Given the description of an element on the screen output the (x, y) to click on. 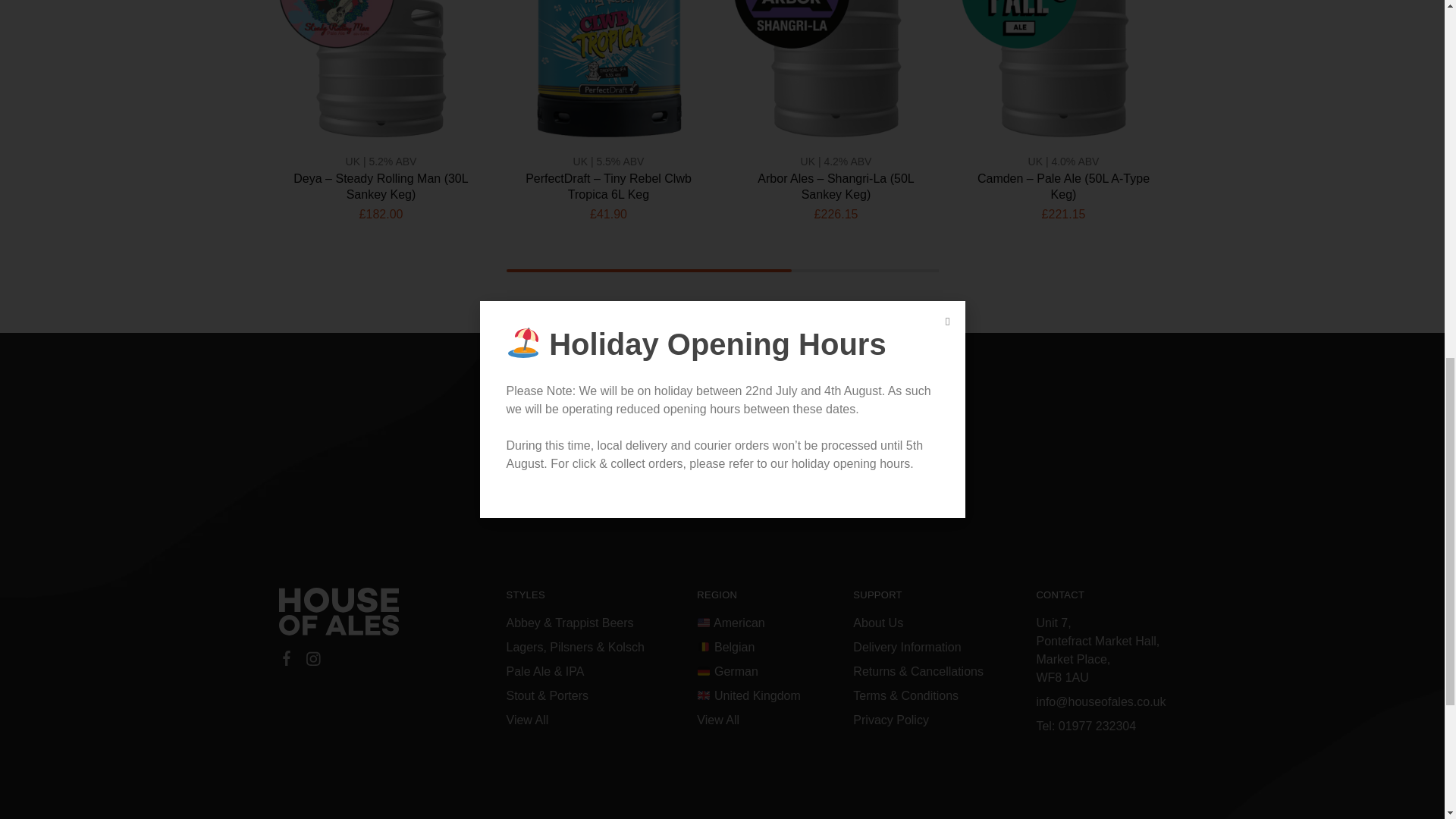
Facebook (286, 660)
Sign up (890, 484)
Instagram (312, 661)
